Given the description of an element on the screen output the (x, y) to click on. 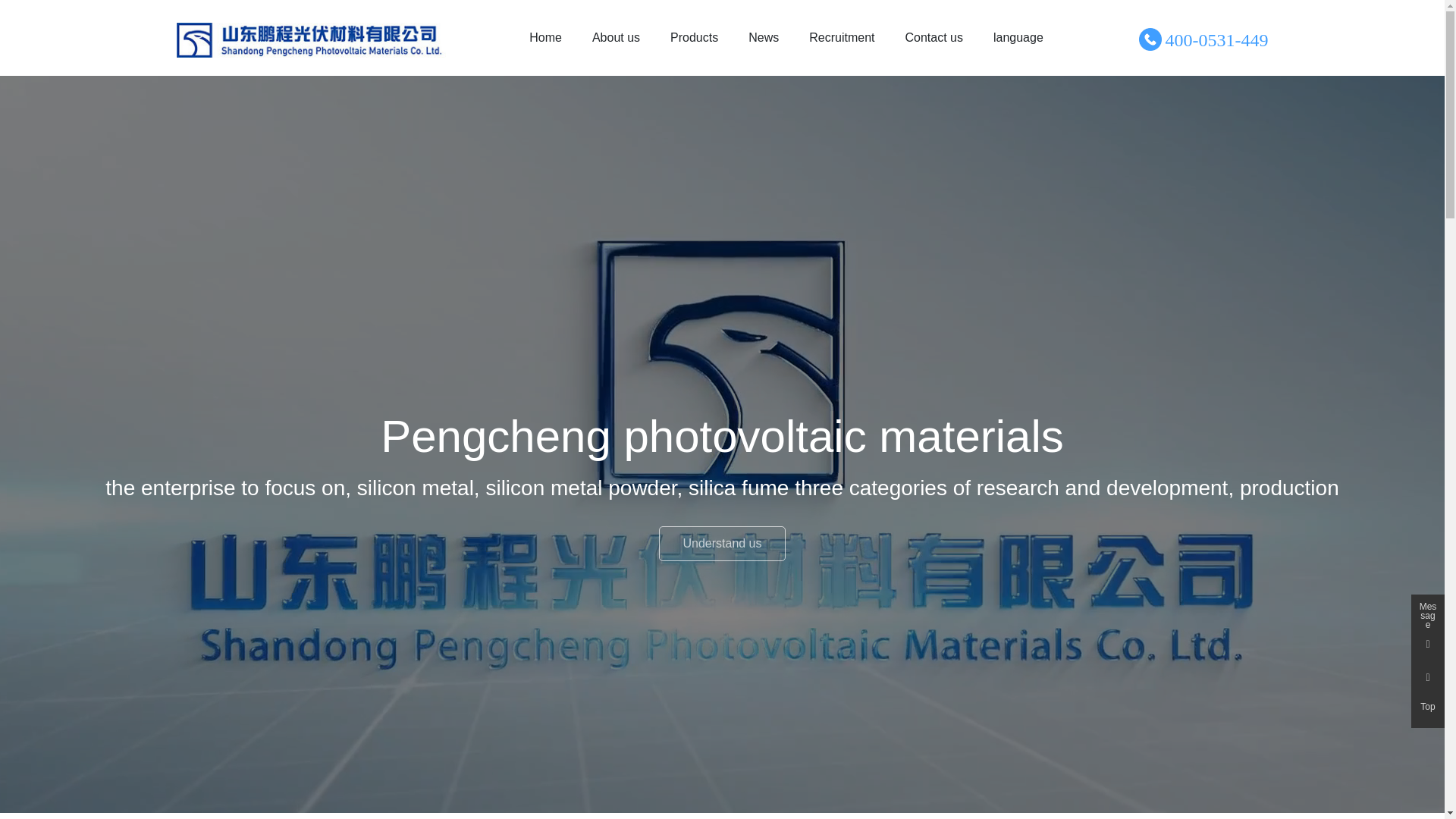
Understand us Element type: text (721, 543)
Home Element type: text (545, 37)
Message Element type: text (1427, 611)
About us Element type: text (616, 37)
Products Element type: text (694, 37)
Contact us Element type: text (933, 37)
News Element type: text (763, 37)
Top Element type: text (1427, 711)
language Element type: text (1018, 37)
400-0531-449 Element type: text (1216, 40)
Recruitment Element type: text (841, 37)
